Given the description of an element on the screen output the (x, y) to click on. 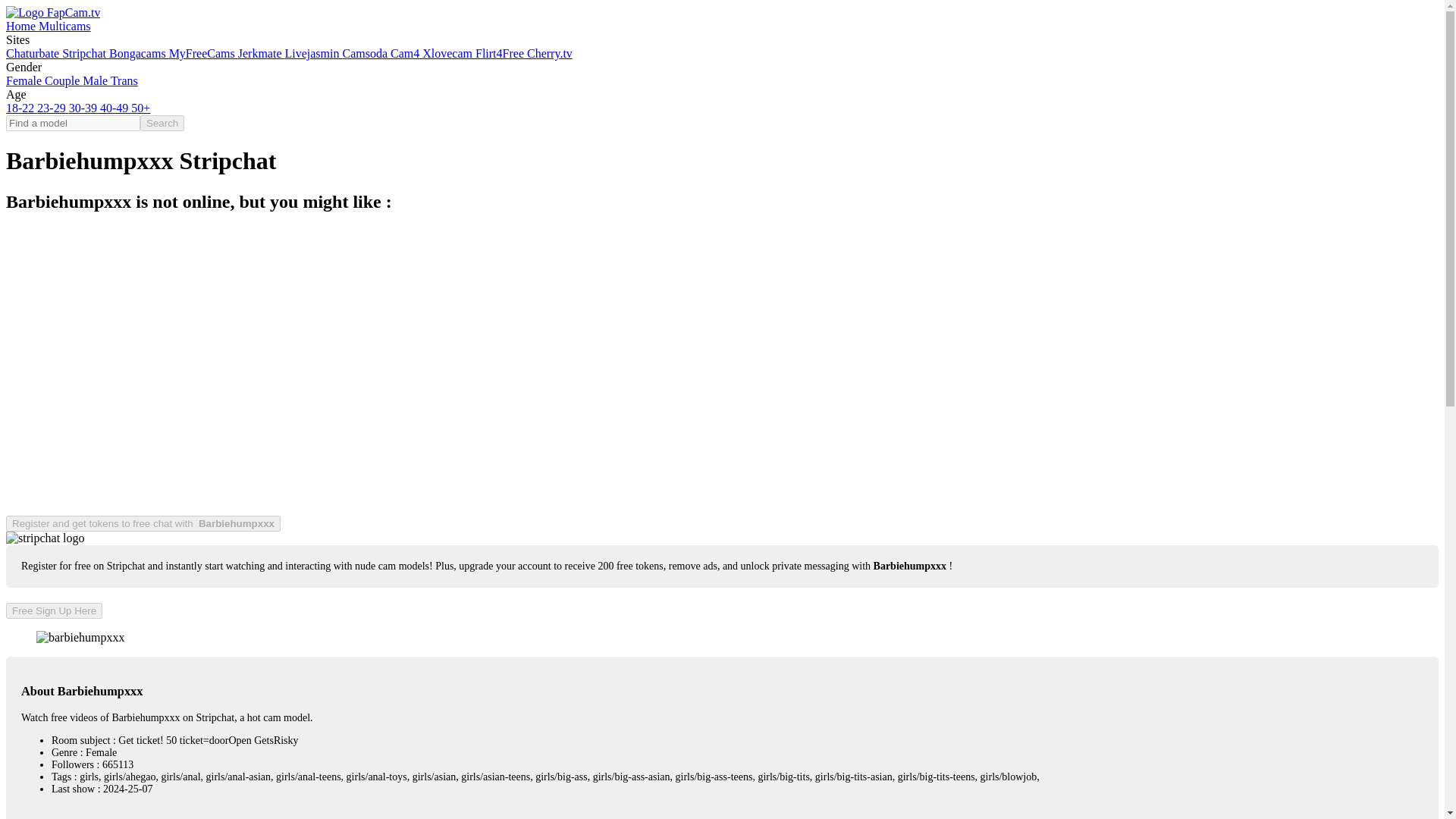
Now on MyFreeCams (203, 52)
Multicams (64, 25)
Now on Camsoda (366, 52)
Xlovecam (449, 52)
Fapcam.tv (22, 25)
Now on XloveCam (449, 52)
Only couple cam (63, 80)
Stripchat (85, 52)
Only trans cam (124, 80)
Register and get tokens to free chat with  Barbiehumpxxx (143, 522)
Logo FapCam.tv (52, 12)
Chaturbate (33, 52)
Free Sign Up Here (53, 609)
Now on Cam4 (406, 52)
Free Sign Up Here (53, 610)
